Given the description of an element on the screen output the (x, y) to click on. 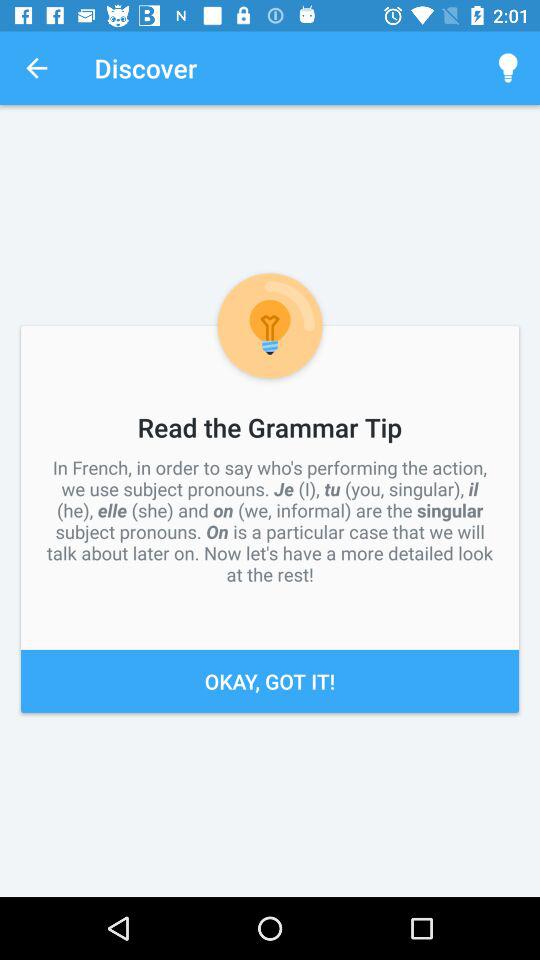
choose the item below the in french in item (270, 680)
